Given the description of an element on the screen output the (x, y) to click on. 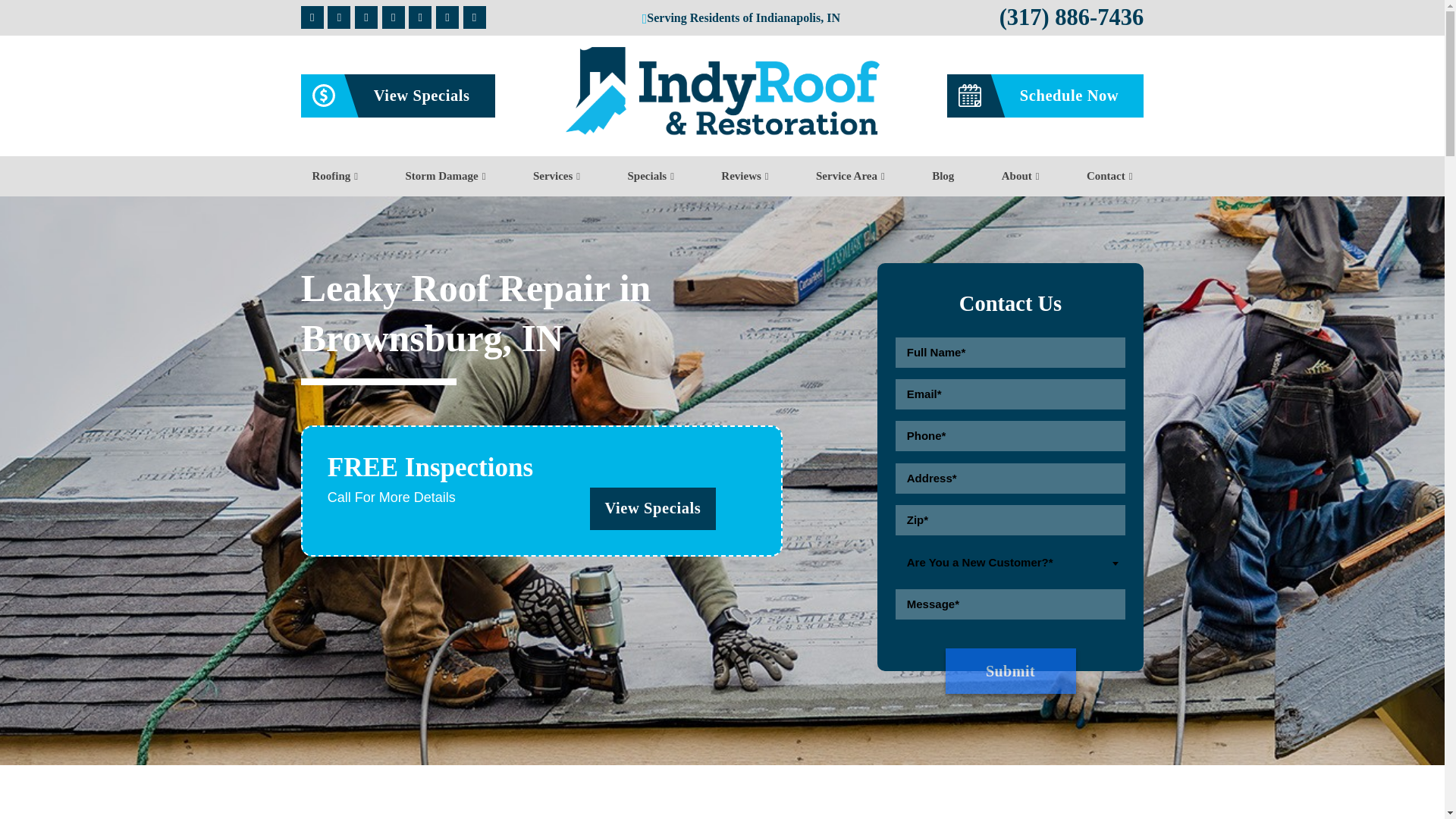
Reviews (744, 176)
Service Area (850, 176)
View Specials (398, 95)
Schedule Now (1045, 95)
Services (556, 176)
Storm Damage (445, 176)
Specials (650, 176)
Roofing (335, 176)
Submit (1009, 670)
